Given the description of an element on the screen output the (x, y) to click on. 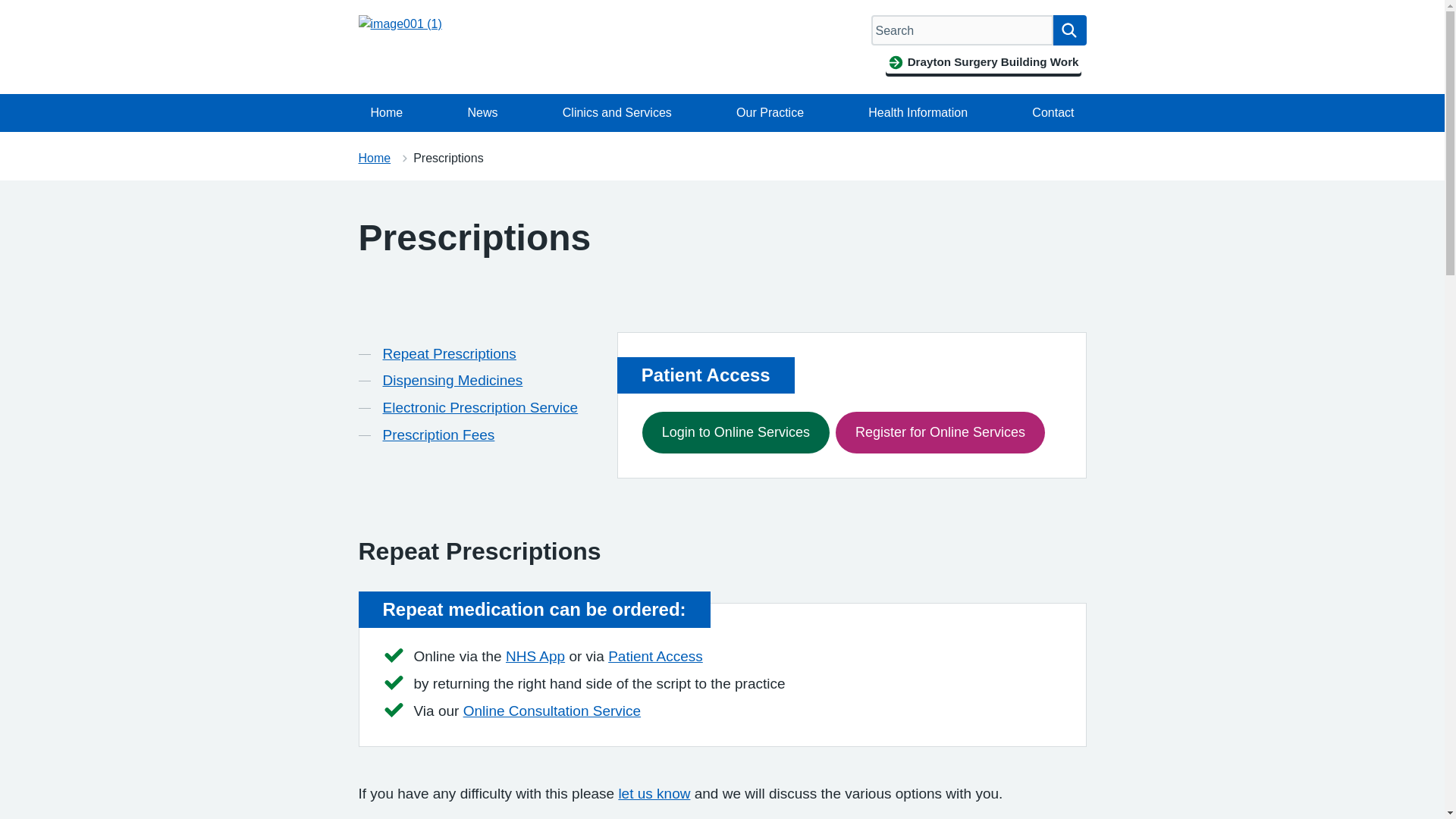
News (481, 112)
Online Consultation Service (551, 710)
Our Practice (769, 112)
Search (1069, 30)
Electronic Prescription Service (479, 407)
NHS App (534, 656)
Home (374, 157)
Contact (1053, 112)
Prescription Fees (438, 435)
let us know (653, 793)
Prescription Fees (438, 435)
Drayton Surgery Building Work (982, 61)
Clinics and Services (617, 112)
Patient Access (655, 656)
Dispensing Medicines (451, 380)
